Given the description of an element on the screen output the (x, y) to click on. 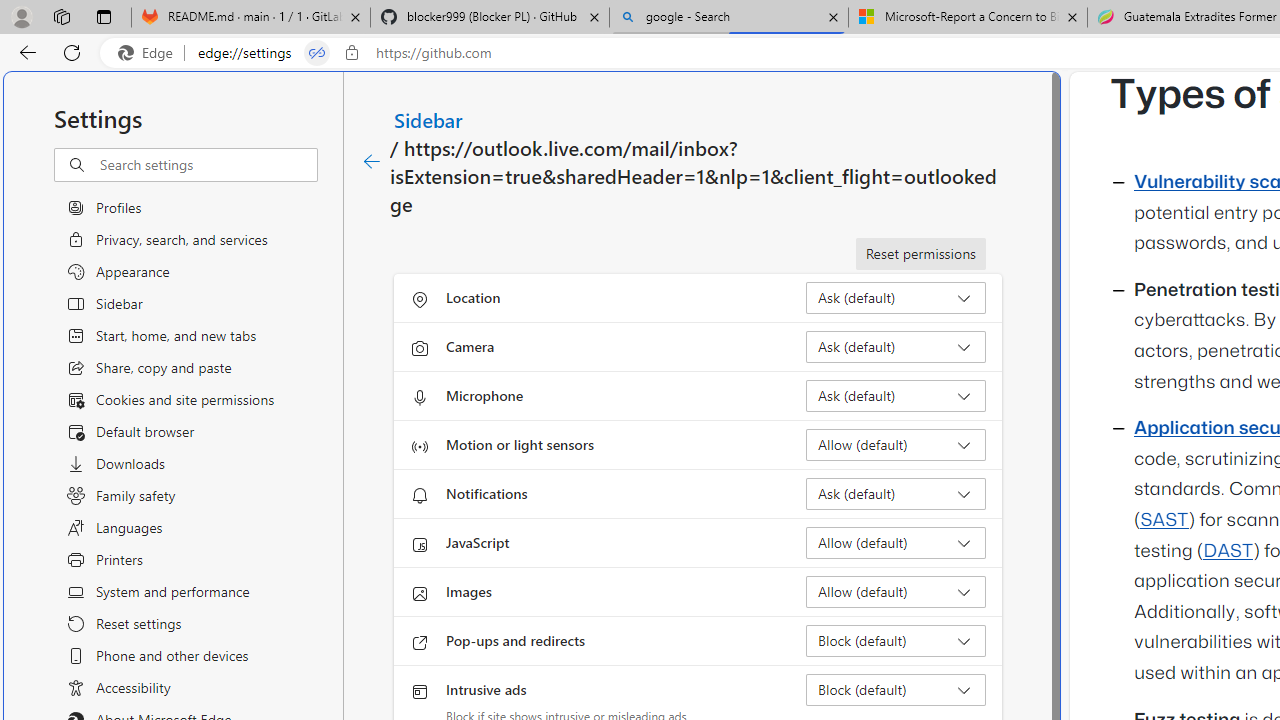
Reset permissions (920, 254)
SAST (1164, 520)
Pop-ups and redirects Block (default) (895, 640)
Location Ask (default) (895, 297)
Notifications Ask (default) (895, 493)
DAST (1228, 551)
Camera Ask (default) (895, 346)
